Given the description of an element on the screen output the (x, y) to click on. 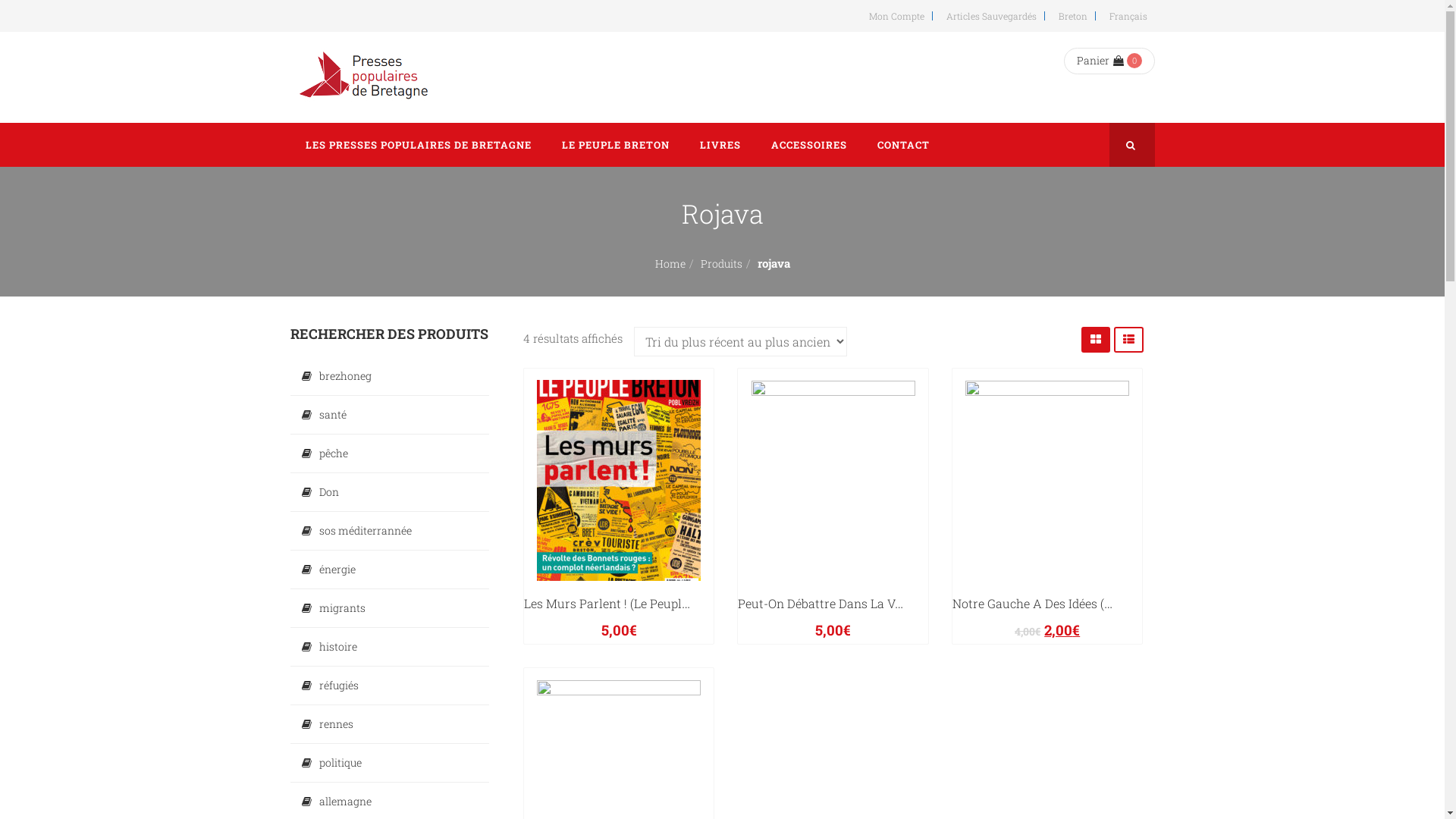
Mon Compte Element type: text (893, 15)
Ajouter au panier Element type: text (580, 600)
Don Element type: text (389, 492)
Produits Element type: text (721, 263)
List view Element type: hover (1127, 338)
Grid view Element type: hover (1095, 338)
LES PRESSES POPULAIRES DE BRETAGNE Element type: text (417, 144)
Home Element type: text (670, 263)
Les Murs Parlent ! (Le Peuple Breton De Mars 2021) Element type: text (667, 602)
CONTACT Element type: text (902, 144)
rennes Element type: text (389, 724)
Ajouter au panier Element type: text (794, 600)
LIVRES Element type: text (719, 144)
histoire Element type: text (389, 646)
0 Element type: text (1134, 60)
LE PEUPLE BRETON Element type: text (615, 144)
Presses populaires de Bretagne Element type: hover (365, 77)
politique Element type: text (389, 762)
migrants Element type: text (389, 608)
Panier Element type: text (1099, 60)
Lire la suite Element type: text (1013, 600)
ACCESSOIRES Element type: text (808, 144)
Breton Element type: text (1070, 15)
brezhoneg Element type: text (389, 376)
